Given the description of an element on the screen output the (x, y) to click on. 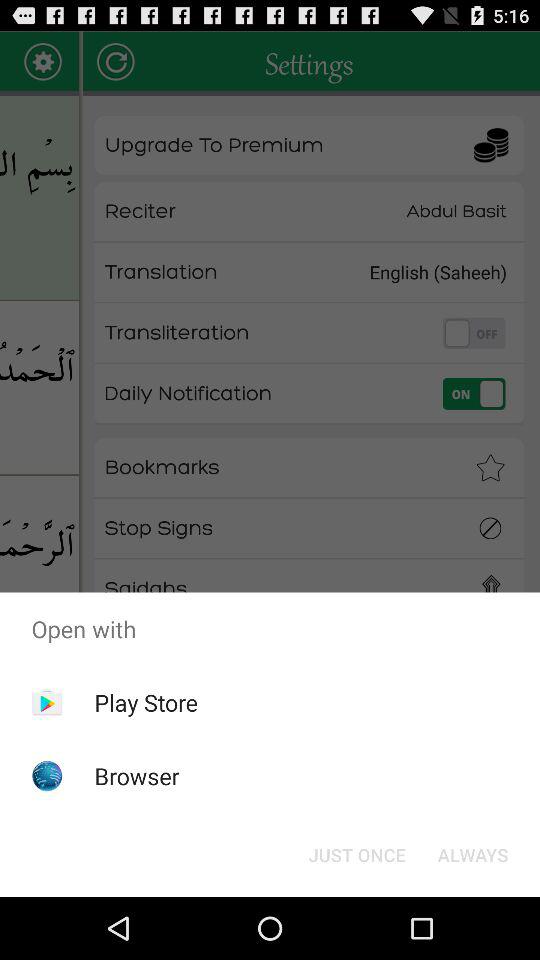
choose always button (472, 854)
